Given the description of an element on the screen output the (x, y) to click on. 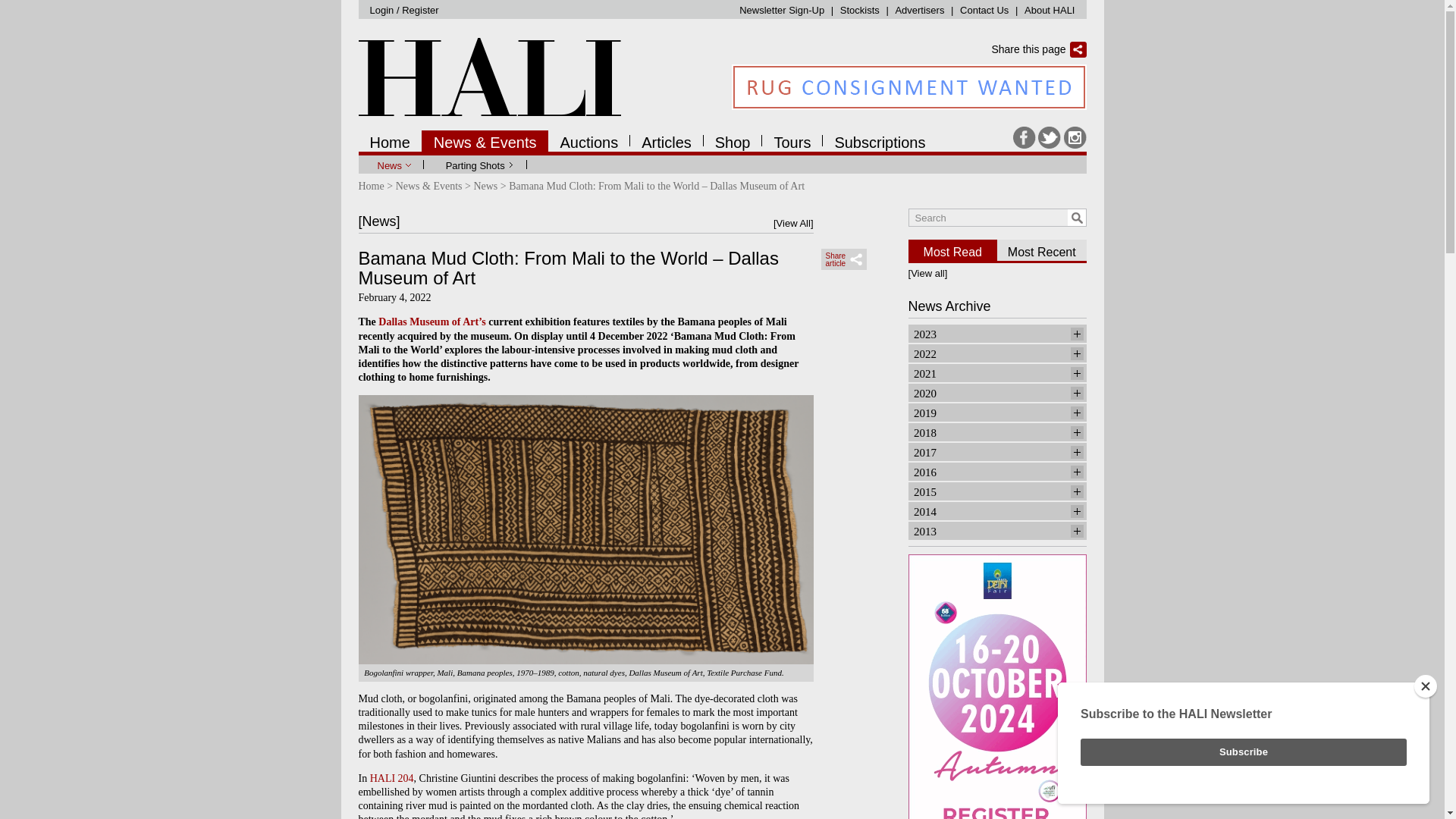
Auctions (588, 140)
Home (371, 185)
Home (390, 140)
Articles (665, 140)
Parting Shots (475, 165)
News (485, 185)
News (390, 165)
